Given the description of an element on the screen output the (x, y) to click on. 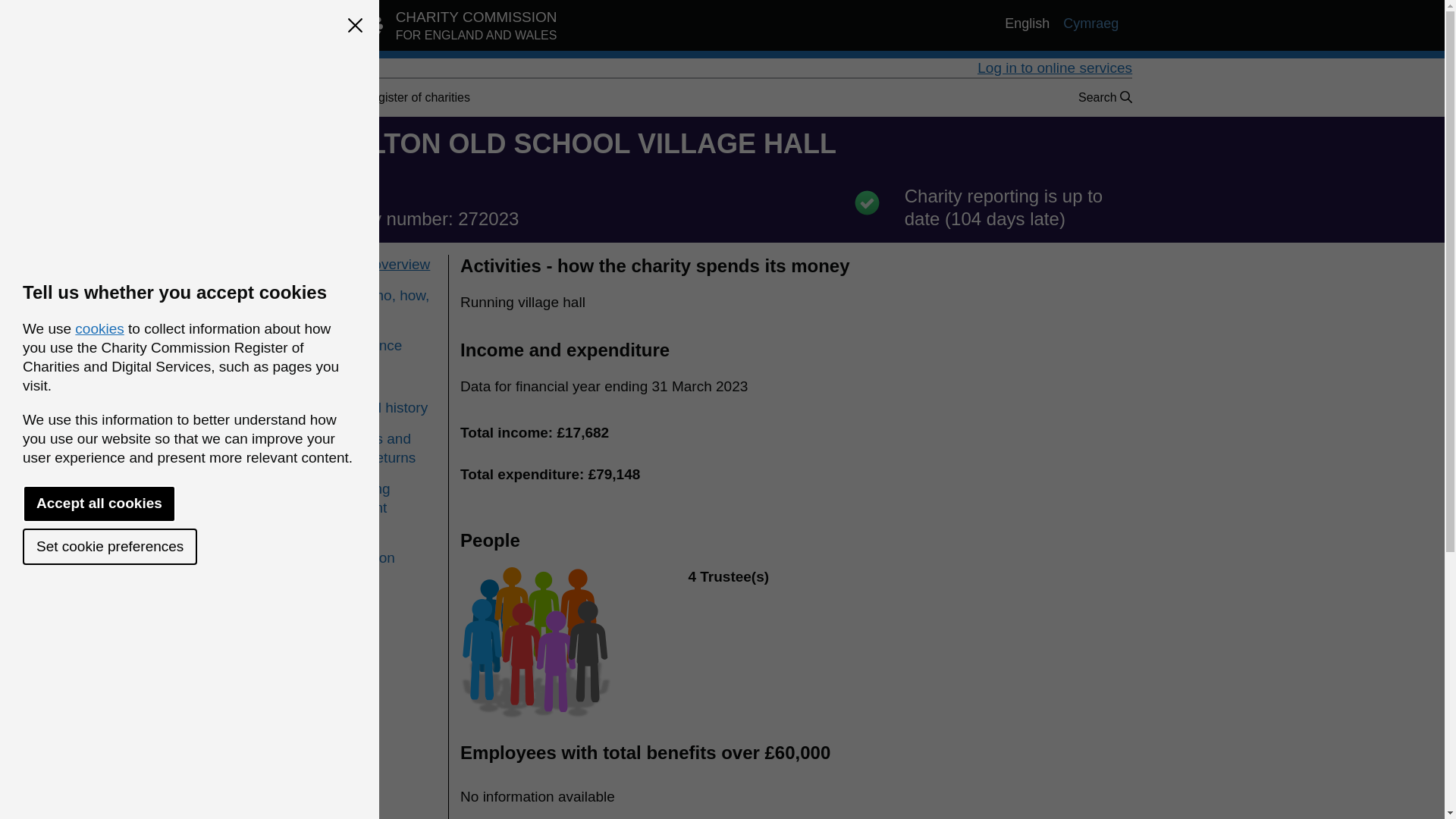
Governing document (439, 28)
Contact information (379, 497)
Accounts and annual returns (379, 548)
Trustees (379, 447)
About the register of charities (379, 375)
Set cookie preferences (391, 97)
Governance (109, 546)
cookies (379, 344)
Financial history (99, 328)
